Given the description of an element on the screen output the (x, y) to click on. 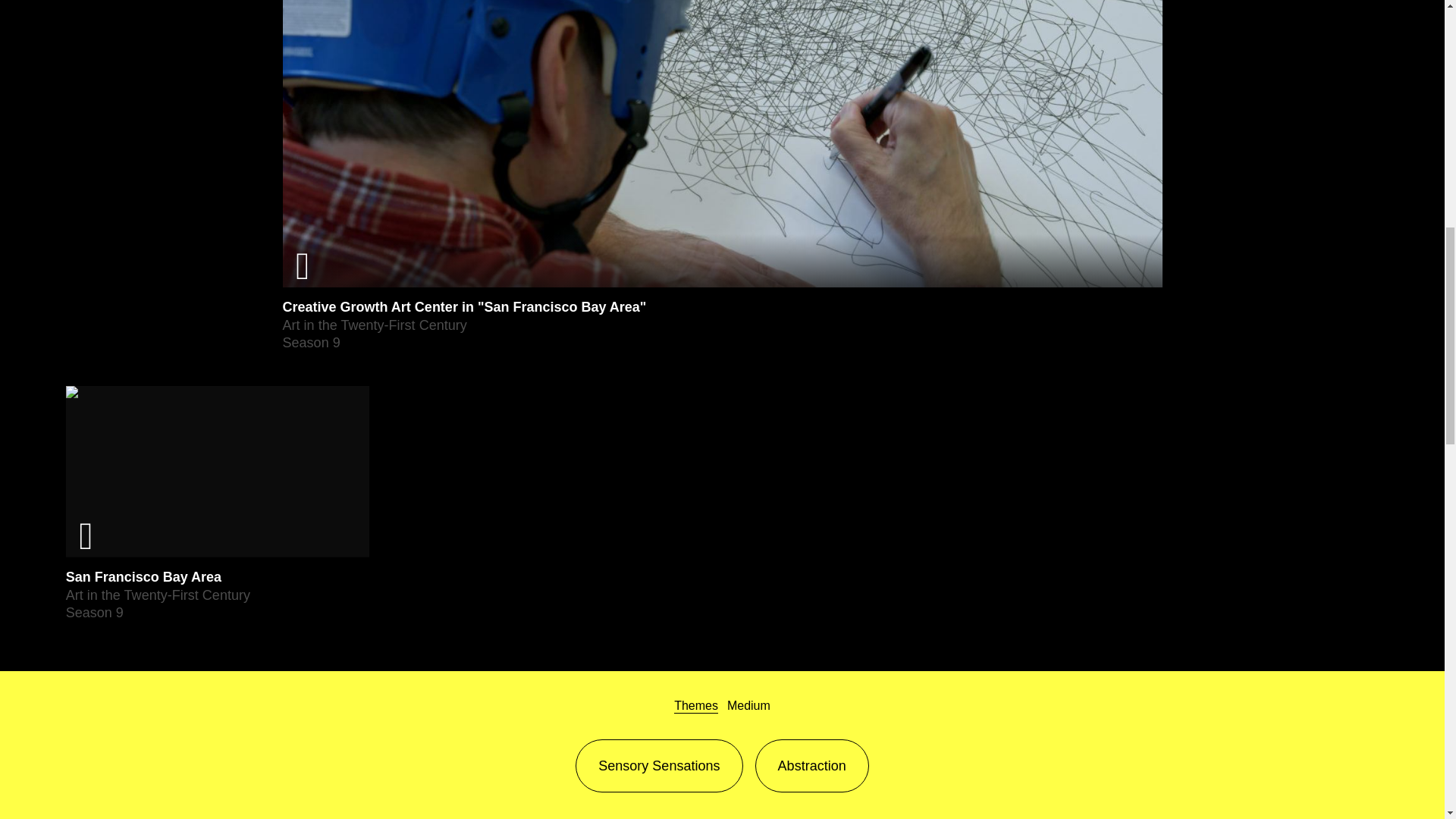
Season 9 (310, 342)
Creative Growth Art Center in "San Francisco Bay Area" (464, 306)
San Francisco Bay Area (143, 576)
Art in the Twenty-First Century (373, 324)
